Given the description of an element on the screen output the (x, y) to click on. 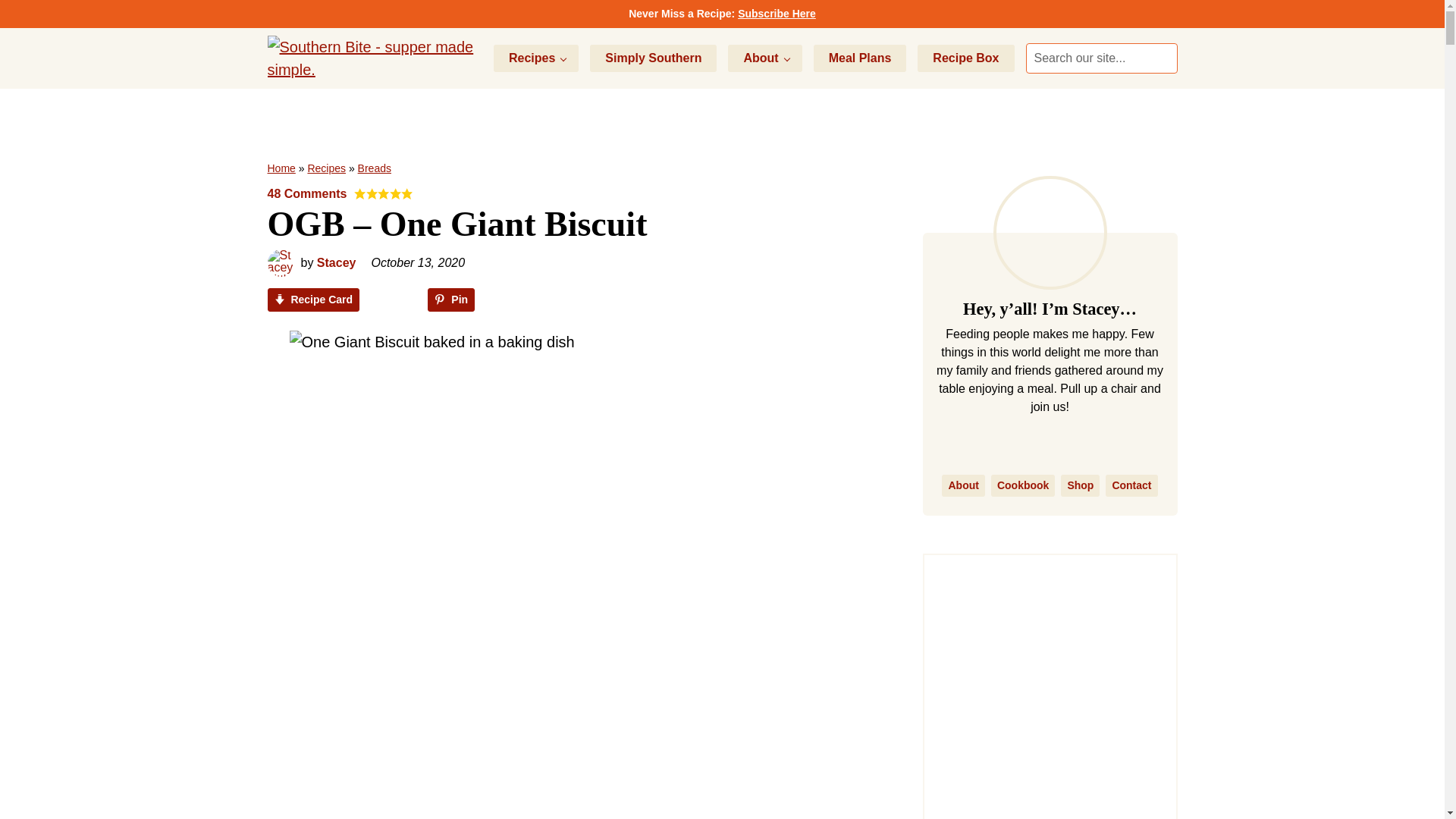
Submit search (1161, 58)
About (765, 58)
Home (280, 168)
Stacey (336, 262)
Recipes (535, 58)
Pin It (542, 706)
Simply Southern (652, 58)
Subscribe Here (776, 13)
Meal Plans (860, 58)
Submit search (1161, 58)
Recipe Box (965, 58)
Recipes (326, 168)
Submit search (1161, 58)
Breads (374, 168)
